Given the description of an element on the screen output the (x, y) to click on. 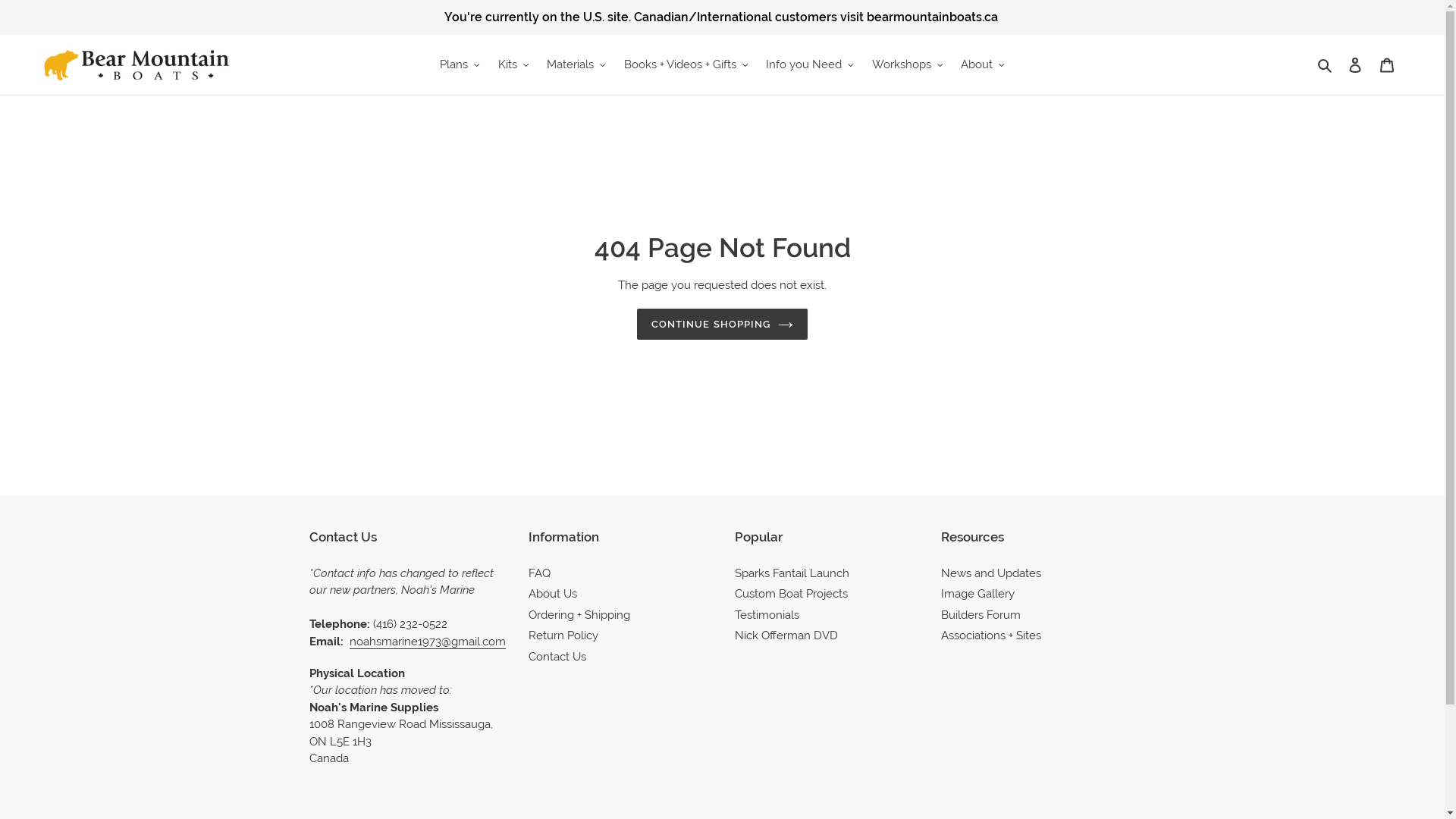
Workshops Element type: text (907, 64)
News and Updates Element type: text (991, 573)
Return Policy Element type: text (562, 635)
Info you Need Element type: text (809, 64)
Contact Us Element type: text (556, 656)
Plans Element type: text (459, 64)
Sparks Fantail Launch Element type: text (791, 573)
Builders Forum Element type: text (980, 614)
Ordering + Shipping Element type: text (578, 614)
About Element type: text (982, 64)
noahsmarine1973@gmail.com Element type: text (426, 641)
About Us Element type: text (551, 593)
Custom Boat Projects Element type: text (790, 593)
Kits Element type: text (513, 64)
Image Gallery Element type: text (977, 593)
FAQ Element type: text (538, 573)
Search Element type: text (1325, 64)
Cart Element type: text (1386, 64)
Associations + Sites Element type: text (991, 635)
Materials Element type: text (576, 64)
Testimonials Element type: text (766, 614)
Books + Videos + Gifts Element type: text (686, 64)
Log in Element type: text (1355, 64)
CONTINUE SHOPPING Element type: text (722, 324)
Nick Offerman DVD Element type: text (785, 635)
